Given the description of an element on the screen output the (x, y) to click on. 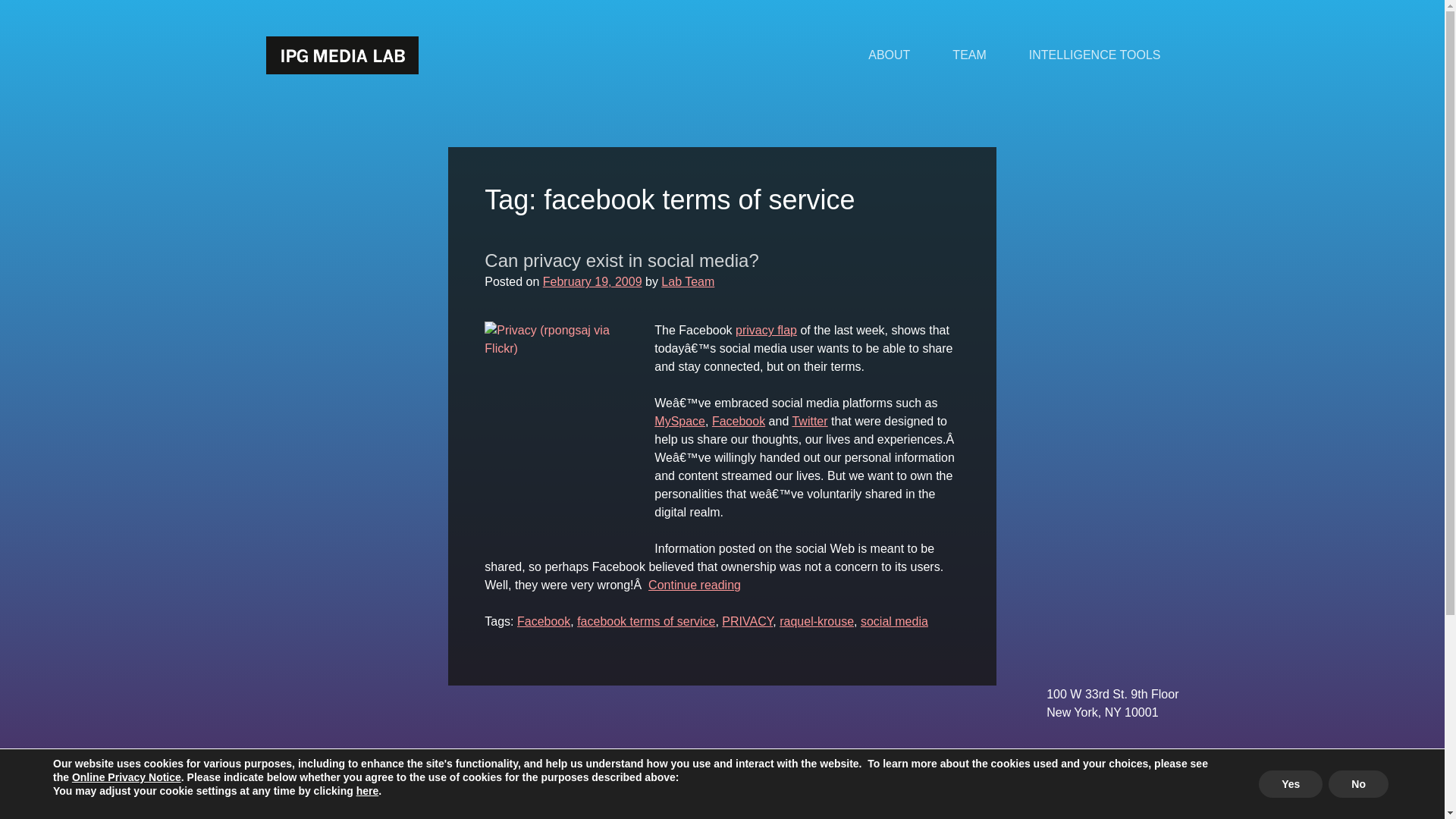
Can privacy exist in social media? (621, 260)
TEAM (969, 55)
Online Privacy Notice (125, 776)
PRIVACY (747, 621)
Facebook (738, 420)
Facebook (543, 621)
MySpace (678, 420)
privacy flap (765, 329)
No (1358, 783)
social media (894, 621)
facebook terms of service (645, 621)
Twitter (809, 420)
ABOUT (889, 55)
raquel-krouse (815, 621)
INTELLIGENCE TOOLS (1094, 55)
